Given the description of an element on the screen output the (x, y) to click on. 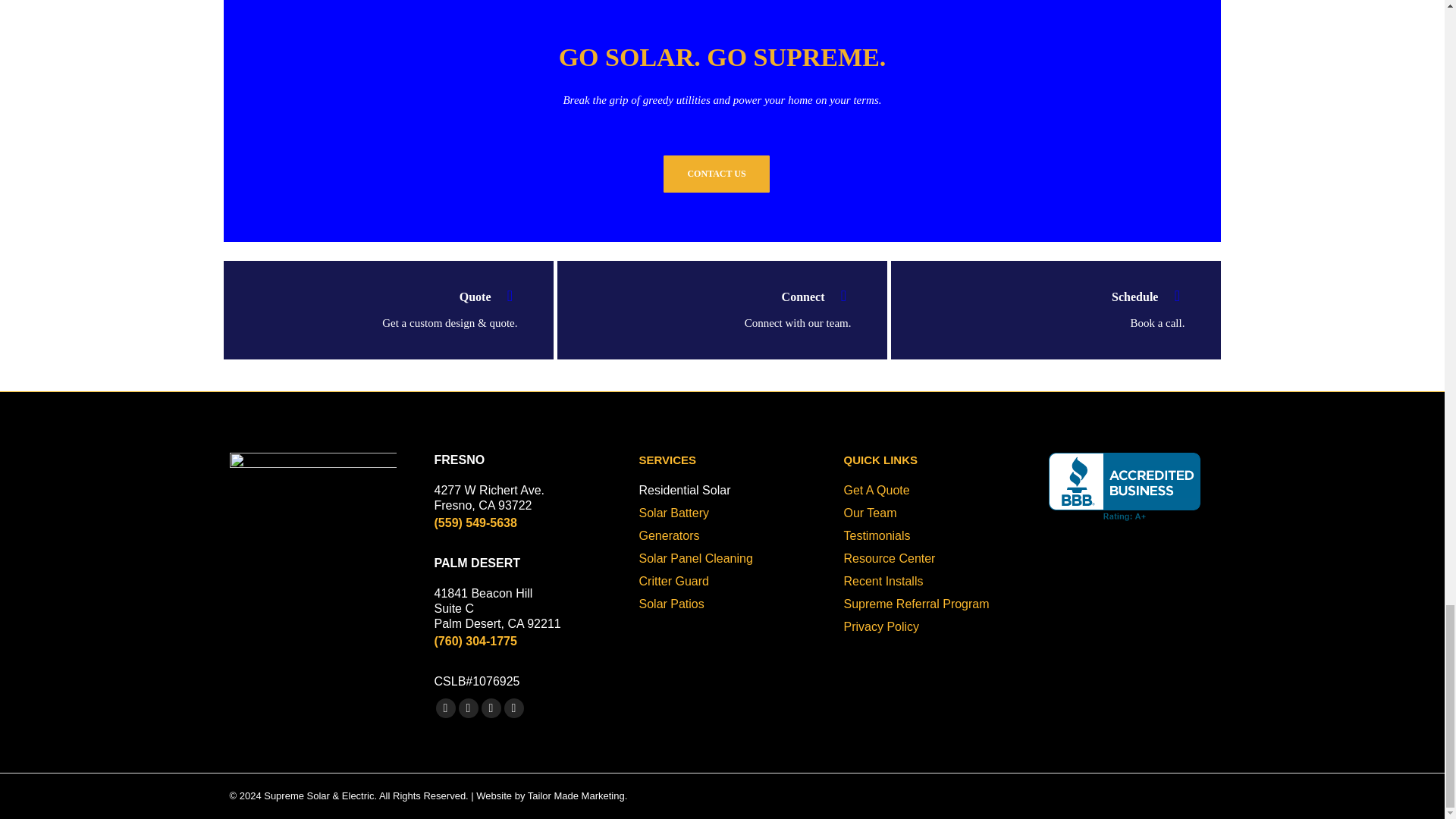
Book A Call (1040, 309)
Get A Quote (372, 309)
